Given the description of an element on the screen output the (x, y) to click on. 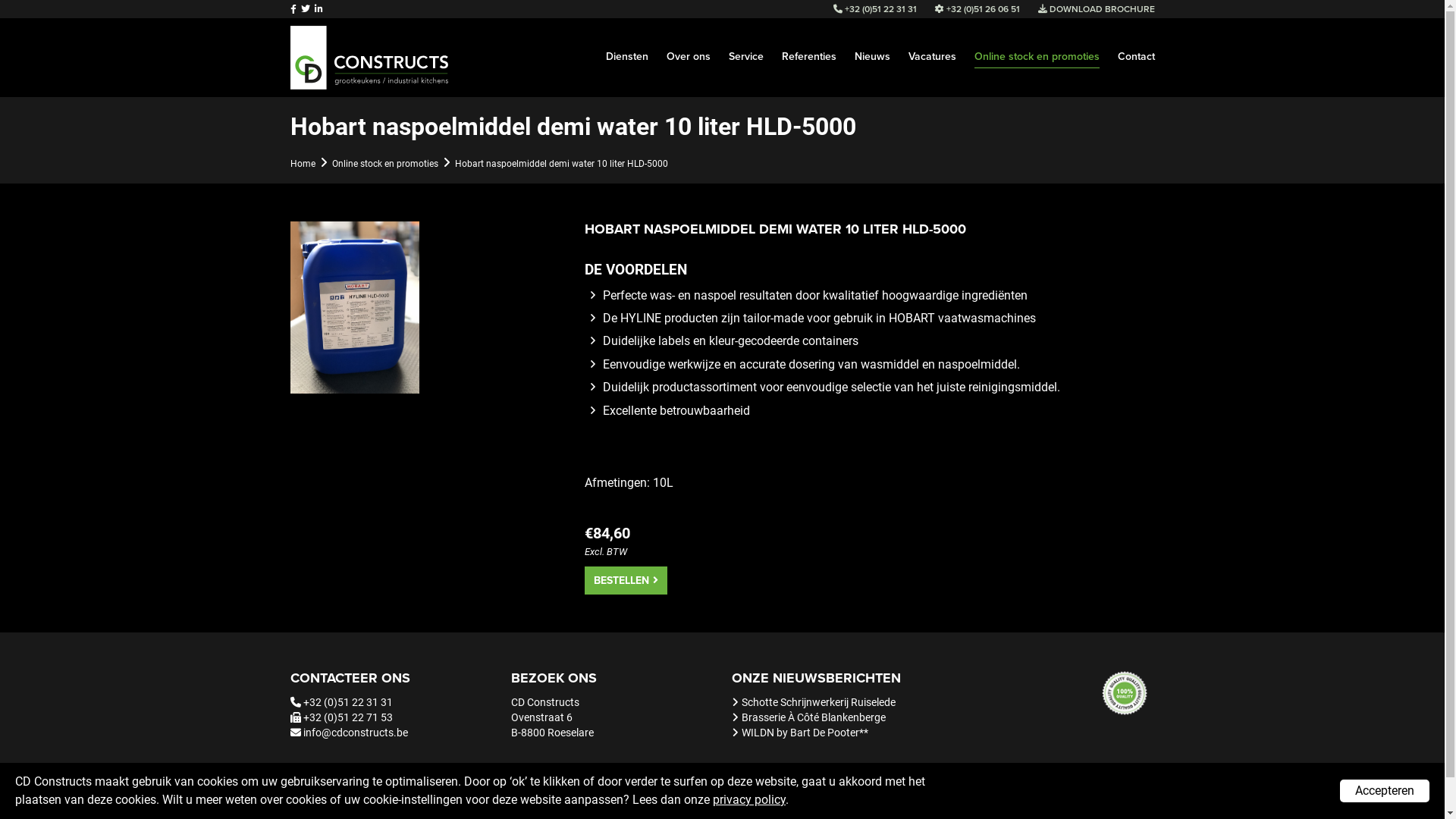
Service Element type: text (745, 46)
Online stock en promoties Element type: text (1035, 46)
Hobart naspoelmiddel demi water 10 liter HLD-5000  Element type: hover (353, 307)
Contact Element type: text (1135, 46)
Home Element type: text (301, 163)
Hobart naspoelmiddel demi water 10 liter HLD-5000 Element type: text (561, 163)
privacy policy Element type: text (748, 799)
+32 (0)51 22 31 31 Element type: text (347, 702)
Accepteren Element type: text (1384, 790)
WILDN by Bart De Pooter** Element type: text (804, 732)
DOWNLOAD BROCHURE Element type: text (1095, 8)
Nieuws Element type: text (871, 46)
Online stock en promoties Element type: text (385, 163)
Over ons Element type: text (687, 46)
Vacatures Element type: text (932, 46)
BESTELLEN Element type: text (624, 580)
Diensten Element type: text (626, 46)
Referenties Element type: text (808, 46)
Schotte Schrijnwerkerij Ruiselede Element type: text (818, 702)
info@cdconstructs.be Element type: text (355, 732)
